Given the description of an element on the screen output the (x, y) to click on. 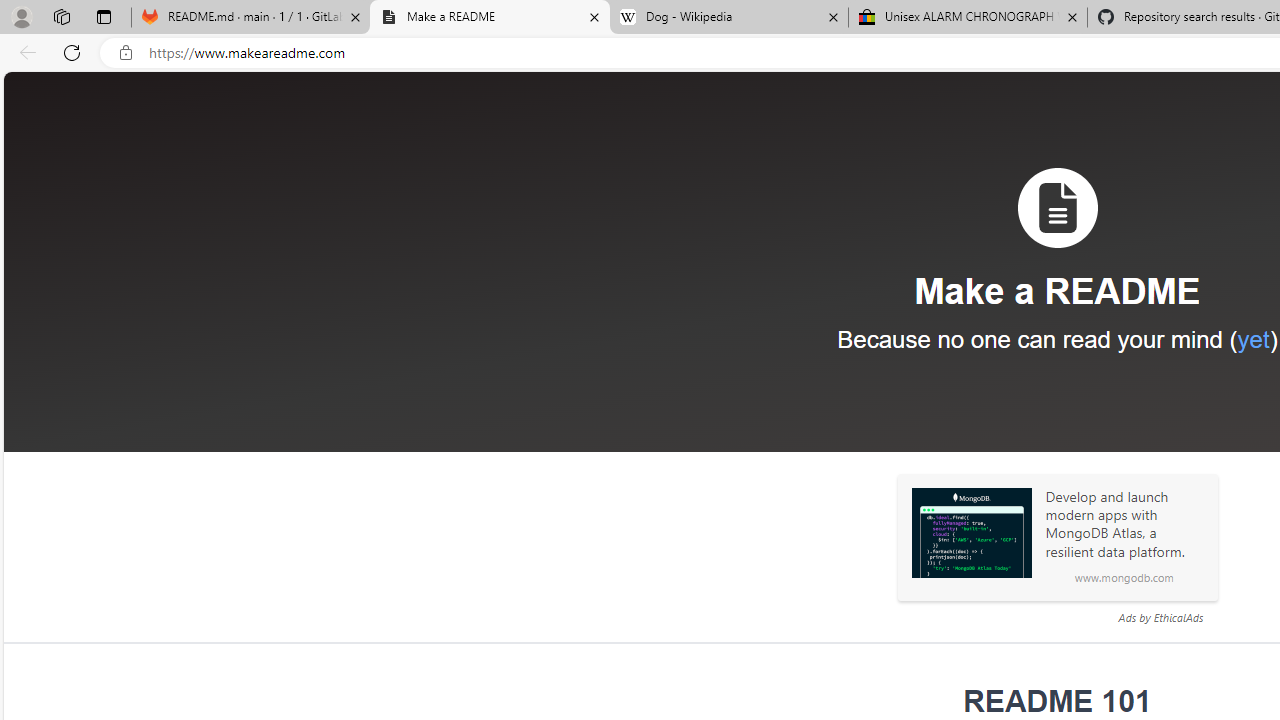
Sponsored: MongoDB (971, 533)
Ads by EthicalAds (1160, 617)
Make a README (490, 17)
Anchor (950, 701)
yet (1252, 339)
Sponsored: MongoDB (971, 533)
Dog - Wikipedia (729, 17)
